Given the description of an element on the screen output the (x, y) to click on. 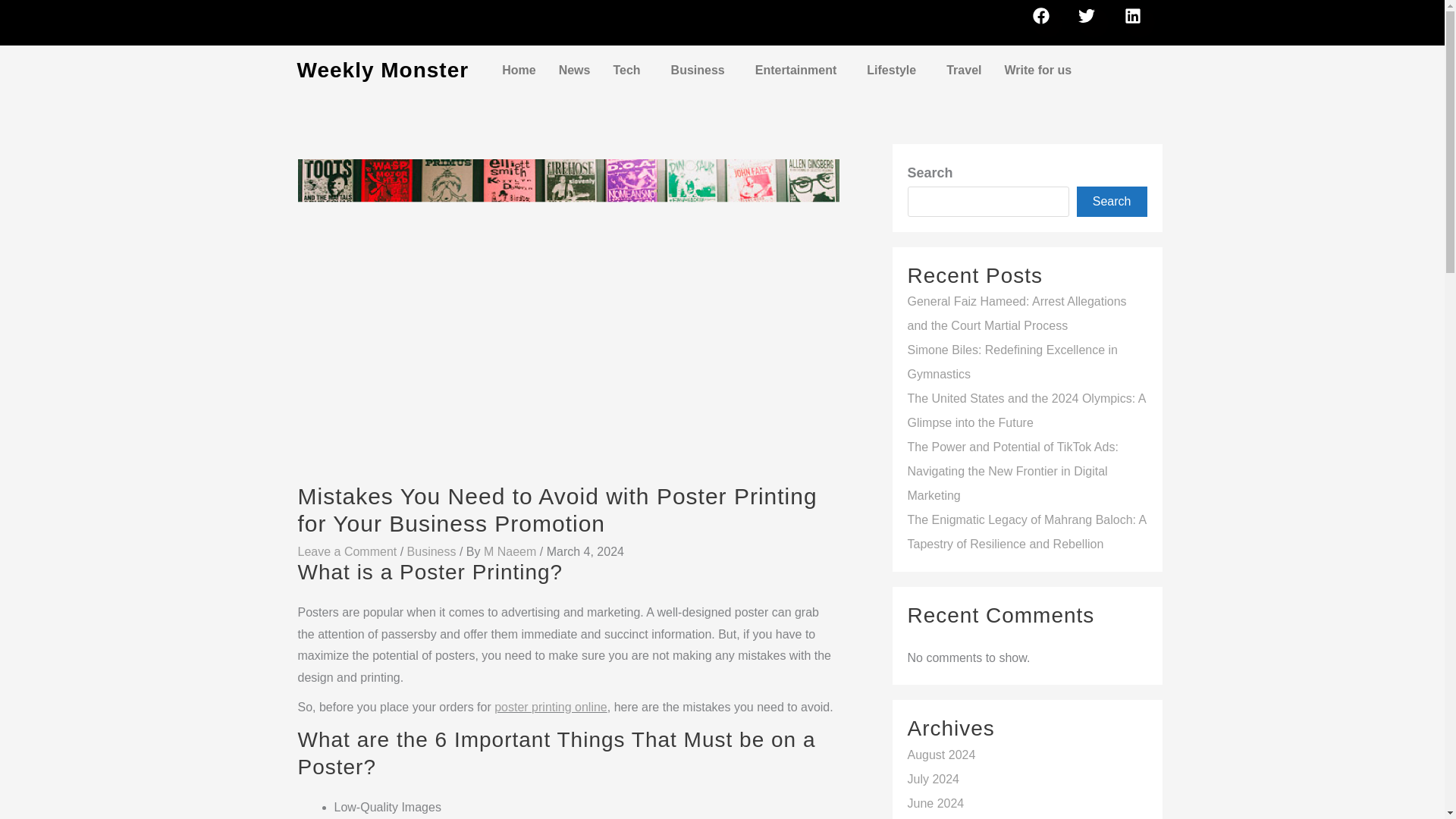
Home (518, 70)
Travel (963, 70)
Weekly Monster (382, 69)
View all posts by M Naeem (511, 551)
Business (701, 70)
Tech (630, 70)
Entertainment (800, 70)
News (574, 70)
Lifestyle (895, 70)
